Given the description of an element on the screen output the (x, y) to click on. 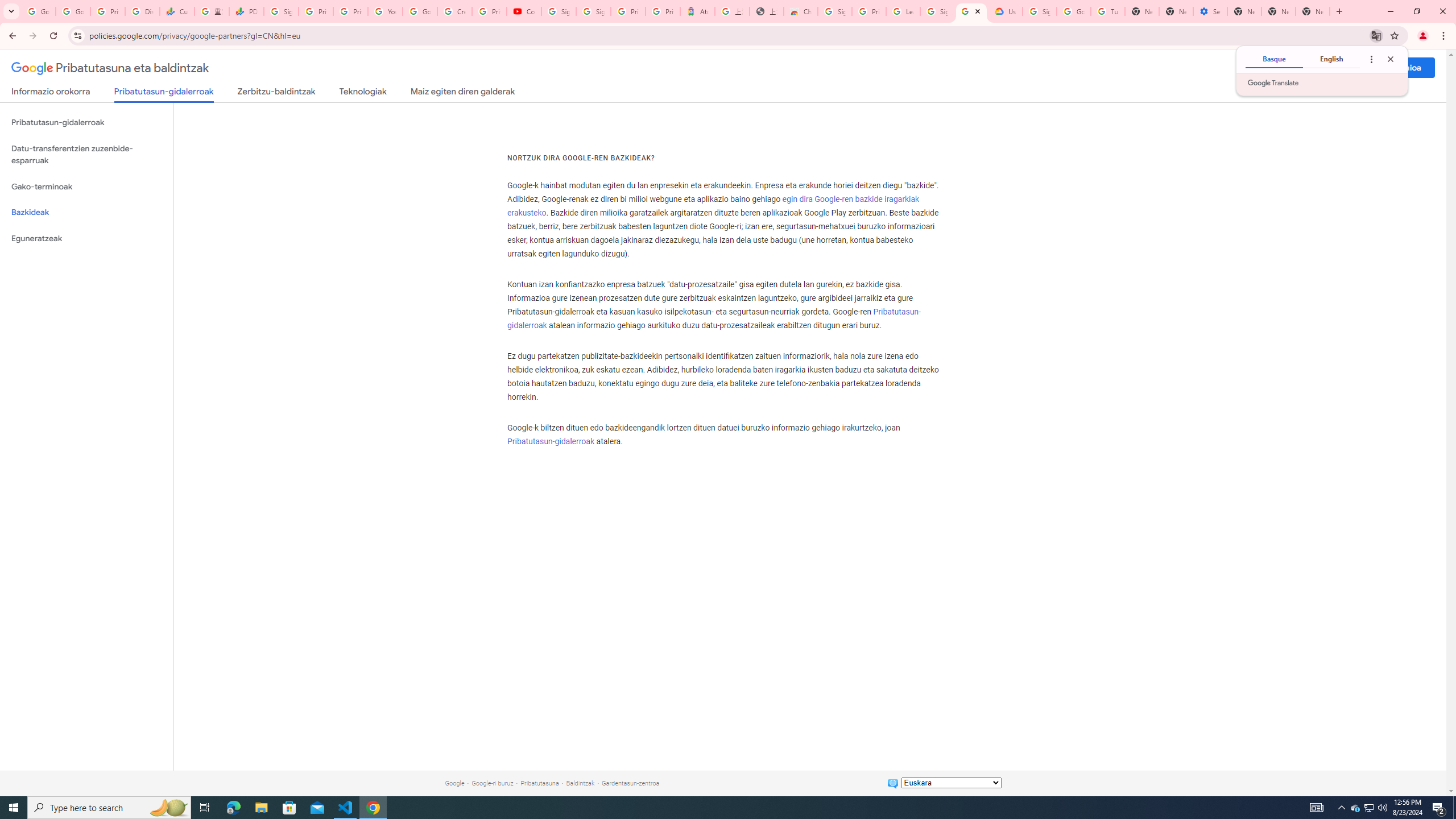
New Tab (1243, 11)
Privacy Checkup (349, 11)
Datu-transferentzien zuzenbide-esparruak (86, 154)
New Tab (1312, 11)
Sign in - Google Accounts (281, 11)
Google Account Help (419, 11)
Chrome Web Store - Color themes by Chrome (800, 11)
Aldatu hizkuntza: (951, 782)
